Given the description of an element on the screen output the (x, y) to click on. 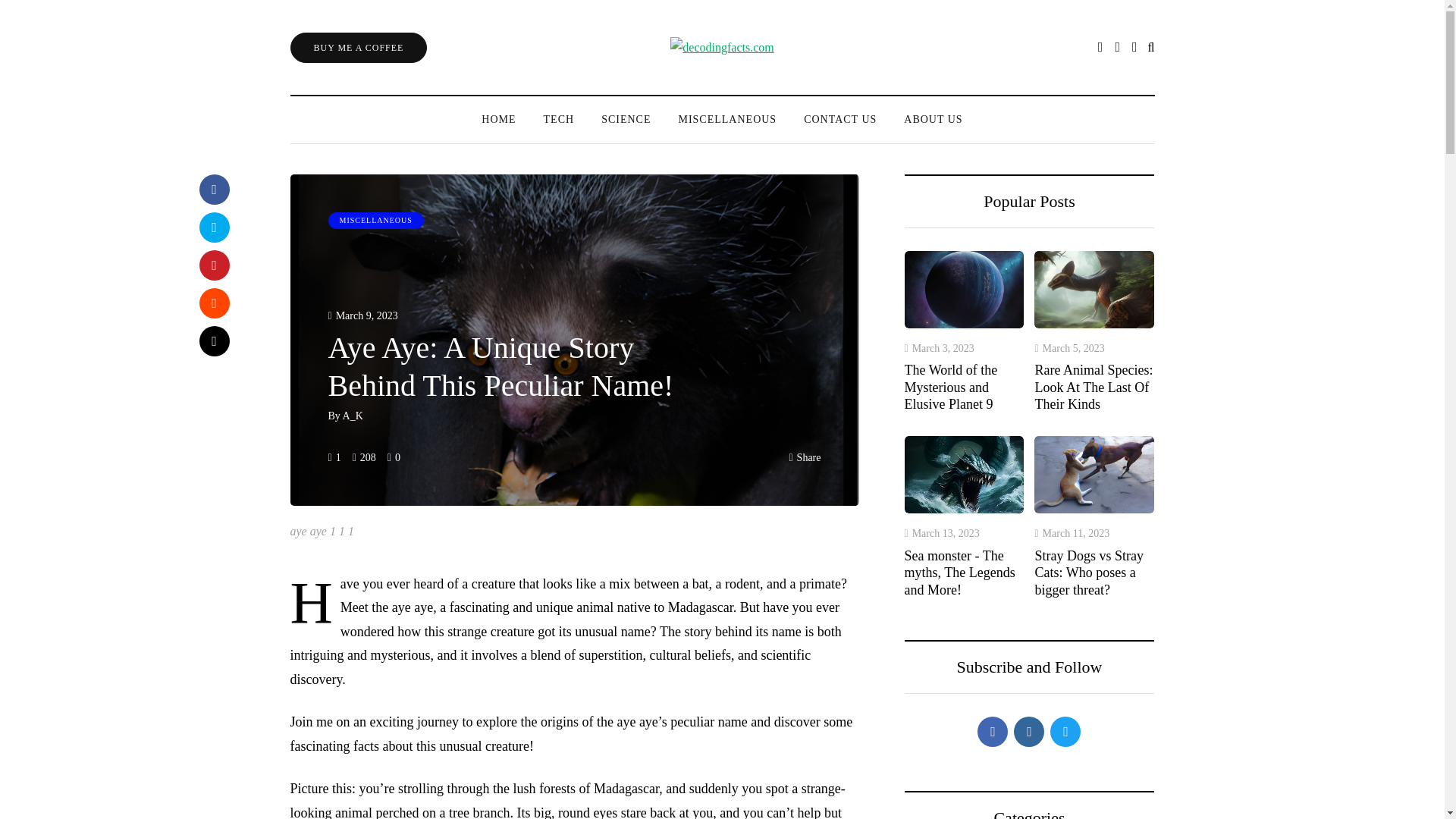
CONTACT US (839, 119)
MISCELLANEOUS (375, 220)
HOME (498, 119)
SCIENCE (625, 119)
MISCELLANEOUS (726, 119)
TECH (558, 119)
BUY ME A COFFEE (357, 46)
ABOUT US (932, 119)
